Given the description of an element on the screen output the (x, y) to click on. 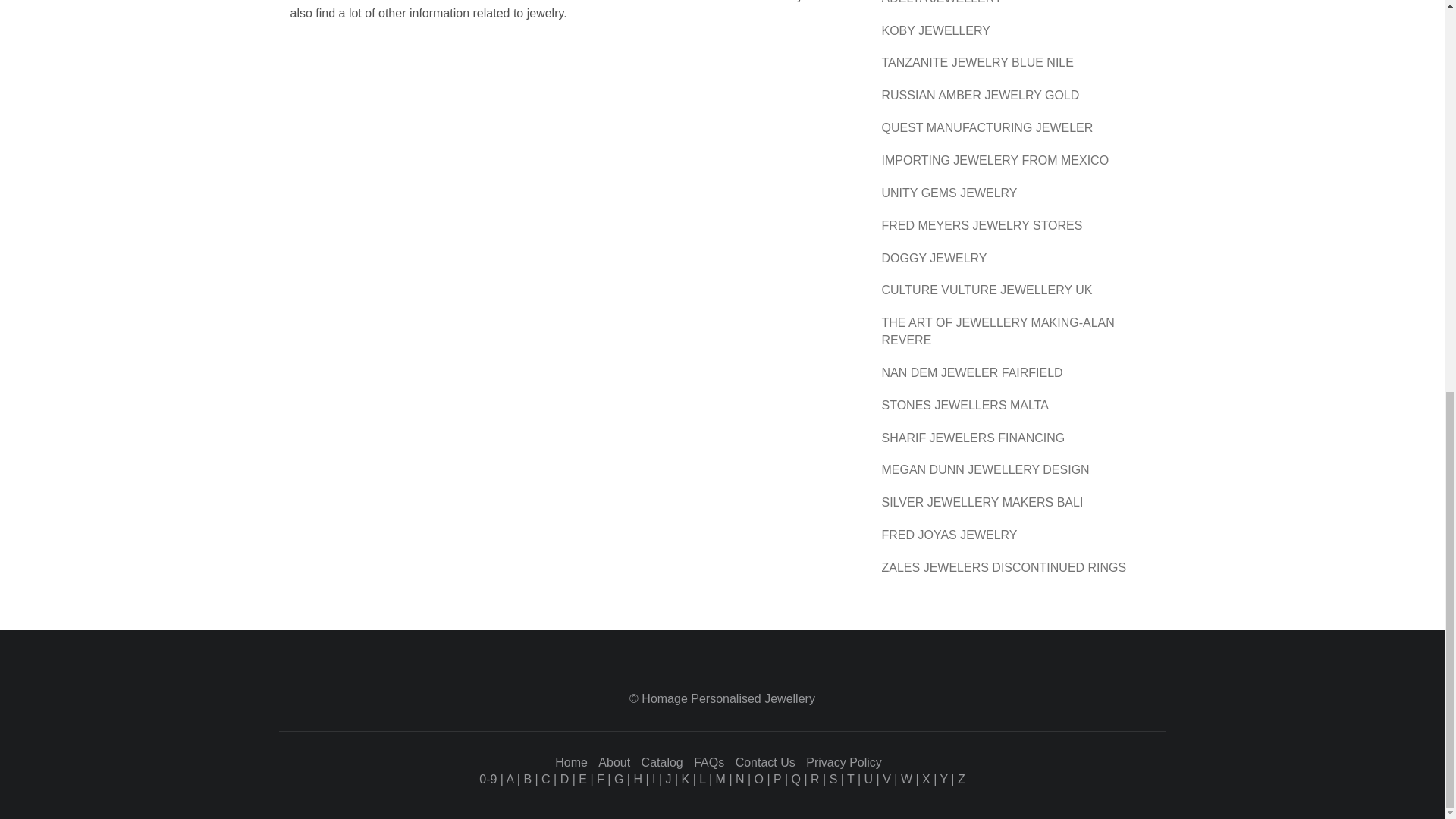
STONES JEWELLERS MALTA (964, 404)
FRED MEYERS JEWELRY STORES (980, 225)
MEGAN DUNN JEWELLERY DESIGN (984, 469)
THE ART OF JEWELLERY MAKING-ALAN REVERE (996, 331)
TANZANITE JEWELRY BLUE NILE (976, 62)
KOBY JEWELLERY (935, 30)
RUSSIAN AMBER JEWELRY GOLD (979, 94)
IMPORTING JEWELERY FROM MEXICO (994, 160)
CULTURE VULTURE JEWELLERY UK (986, 289)
SHARIF JEWELERS FINANCING (972, 437)
ADELYA JEWELLERY (940, 2)
QUEST MANUFACTURING JEWELER (986, 127)
DOGGY JEWELRY (933, 257)
UNITY GEMS JEWELRY (948, 192)
NAN DEM JEWELER FAIRFIELD (971, 372)
